Given the description of an element on the screen output the (x, y) to click on. 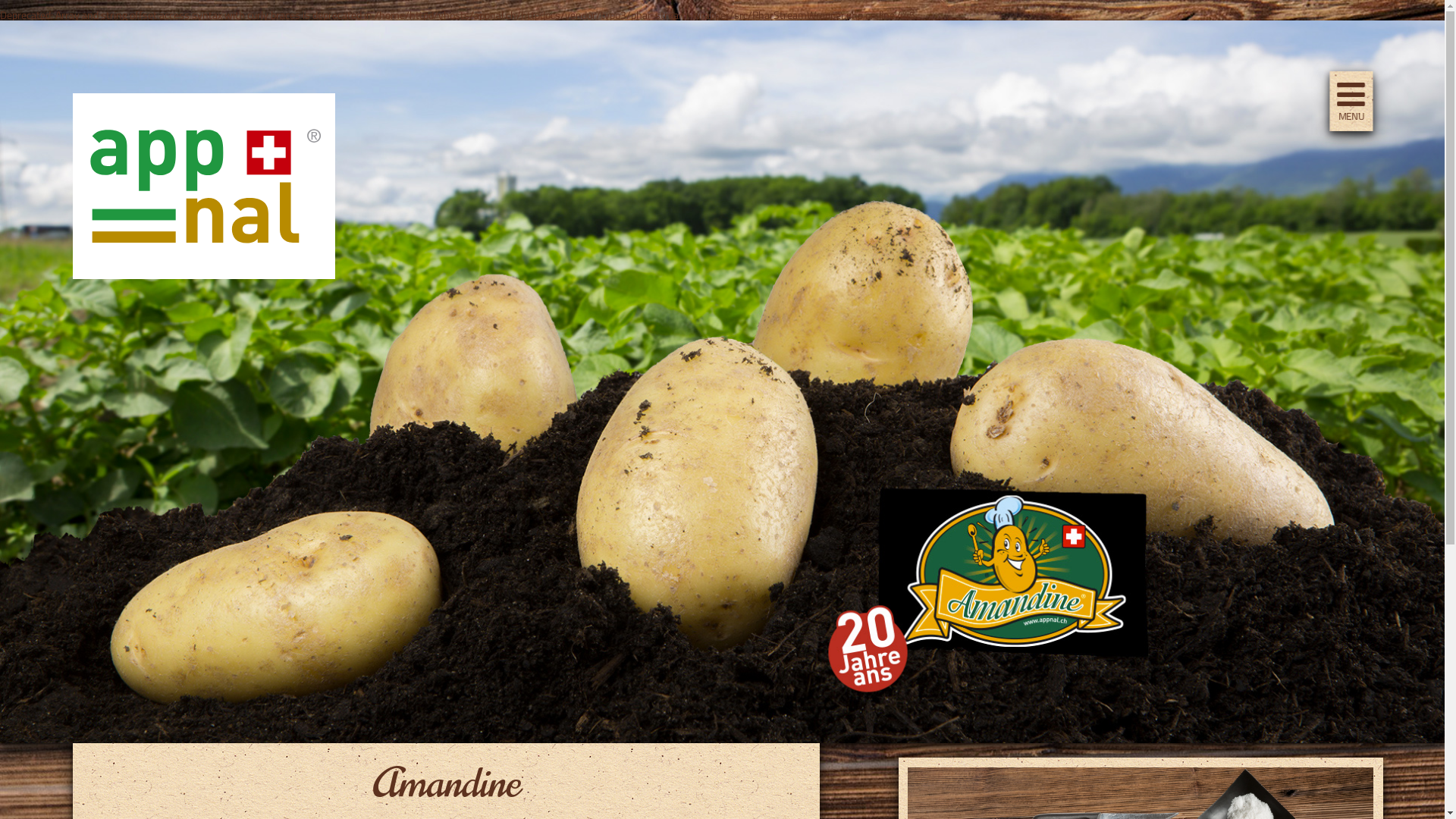
Aller au contenu principal Element type: text (0, 20)
MENU Element type: text (1350, 99)
MENU Element type: text (1350, 116)
Accueil Element type: hover (203, 274)
